Given the description of an element on the screen output the (x, y) to click on. 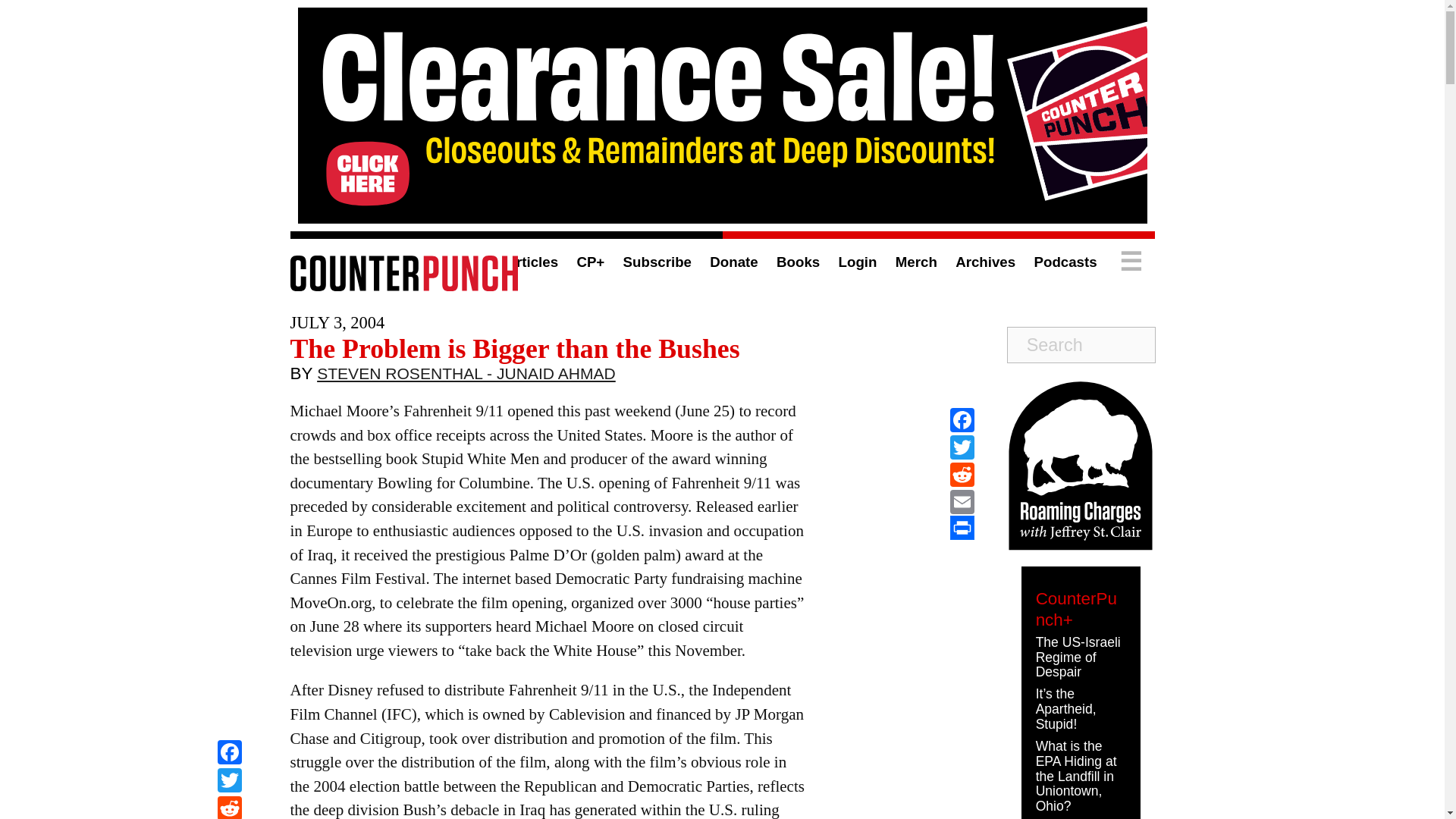
Books (797, 261)
The Problem is Bigger than the Bushes (514, 348)
Email (962, 501)
STEVEN ROSENTHAL - JUNAID AHMAD (466, 376)
Twitter (962, 447)
What is the EPA Hiding at the Landfill in Uniontown, Ohio? (1075, 776)
Reddit (962, 474)
Subscribe (657, 261)
Print This Post (962, 527)
Facebook (962, 420)
Facebook (229, 754)
Merch (916, 261)
2004-07-03 (336, 322)
The US-Israeli Regime of Despair (1078, 657)
Articles (531, 261)
